Given the description of an element on the screen output the (x, y) to click on. 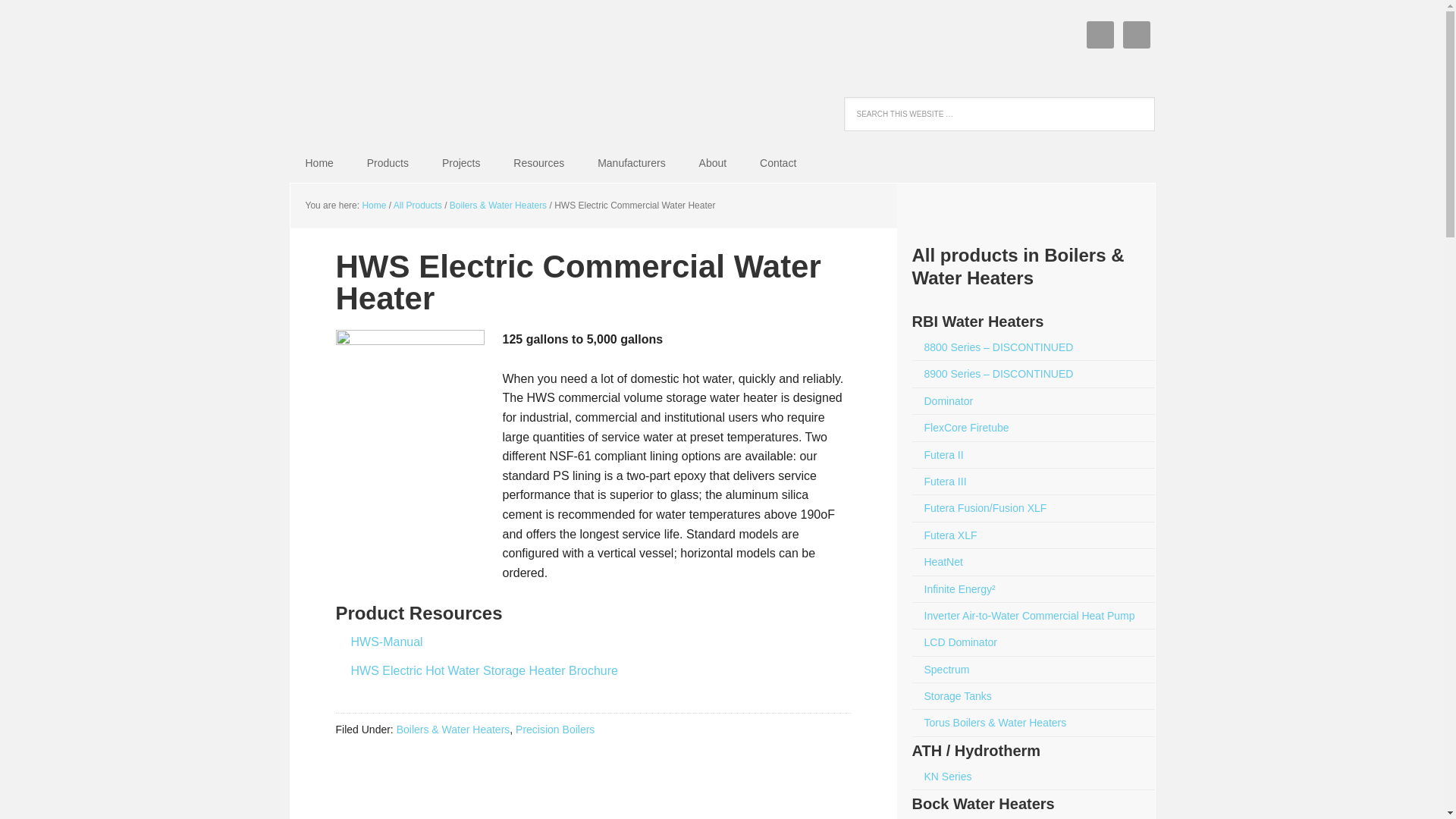
Home (318, 163)
About (713, 163)
Resources (538, 163)
Products (387, 163)
Contact (777, 163)
Mechanical Equipment Sales Co (361, 77)
Manufacturers (630, 163)
Projects (461, 163)
